Given the description of an element on the screen output the (x, y) to click on. 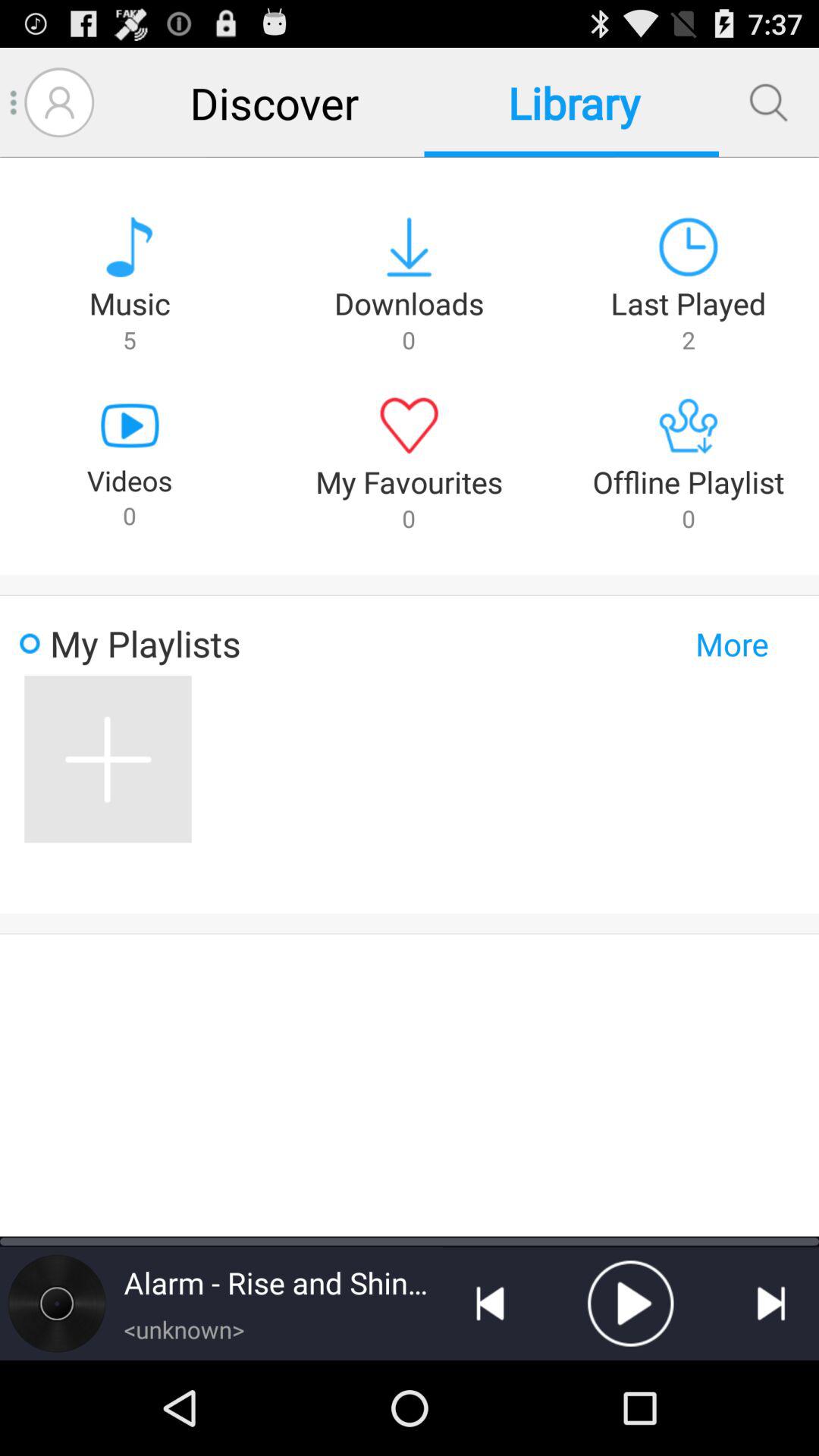
turn on the icon next to library app (274, 102)
